Given the description of an element on the screen output the (x, y) to click on. 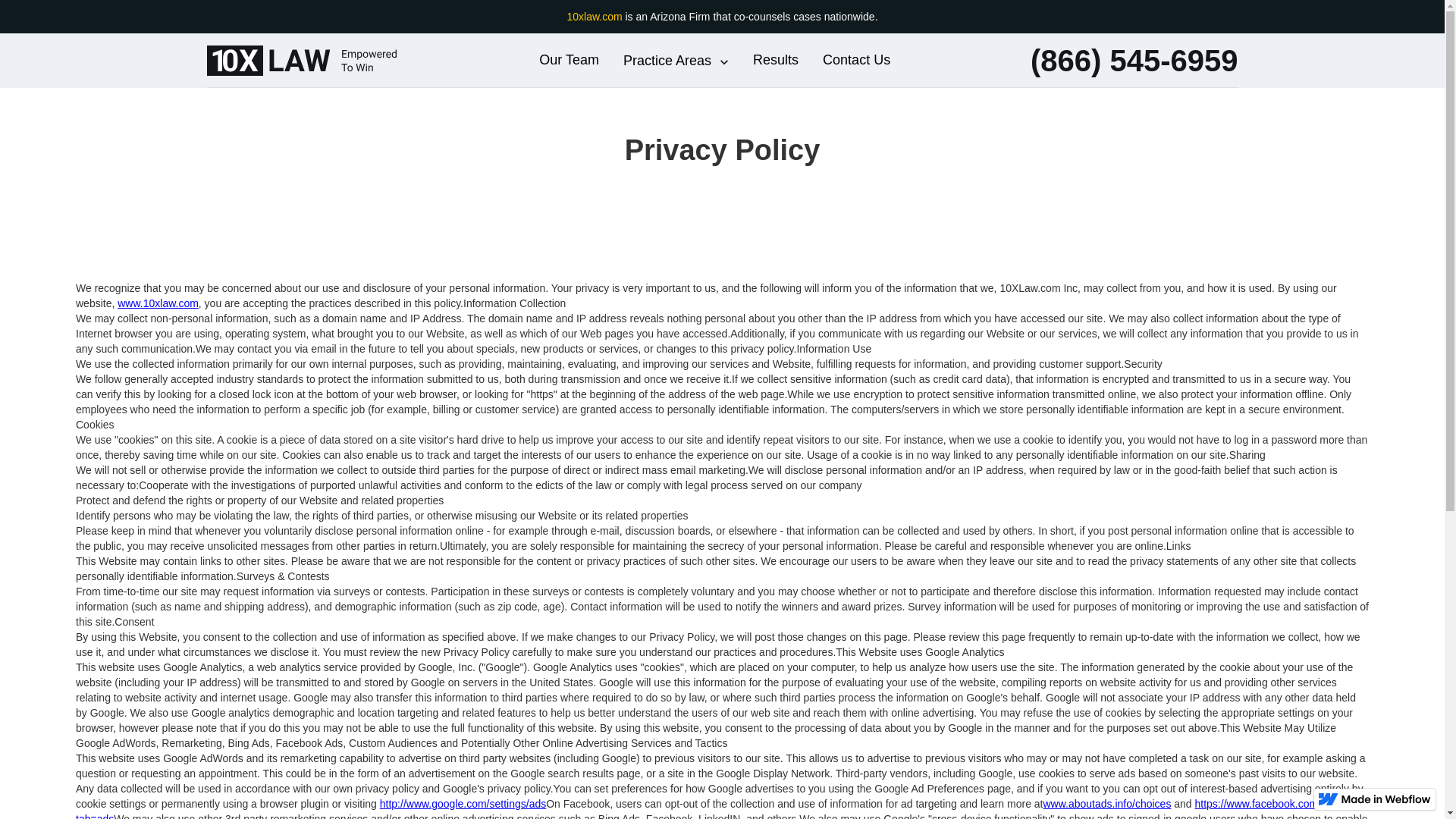
Results Element type: text (775, 60)
Contact Us Element type: text (856, 60)
www.10xlaw.com Element type: text (157, 303)
www.aboutads.info/choices Element type: text (1107, 803)
Our Team Element type: text (569, 60)
http://www.google.com/settings/ads Element type: text (462, 803)
(866) 545-6959 Element type: text (1134, 59)
